Given the description of an element on the screen output the (x, y) to click on. 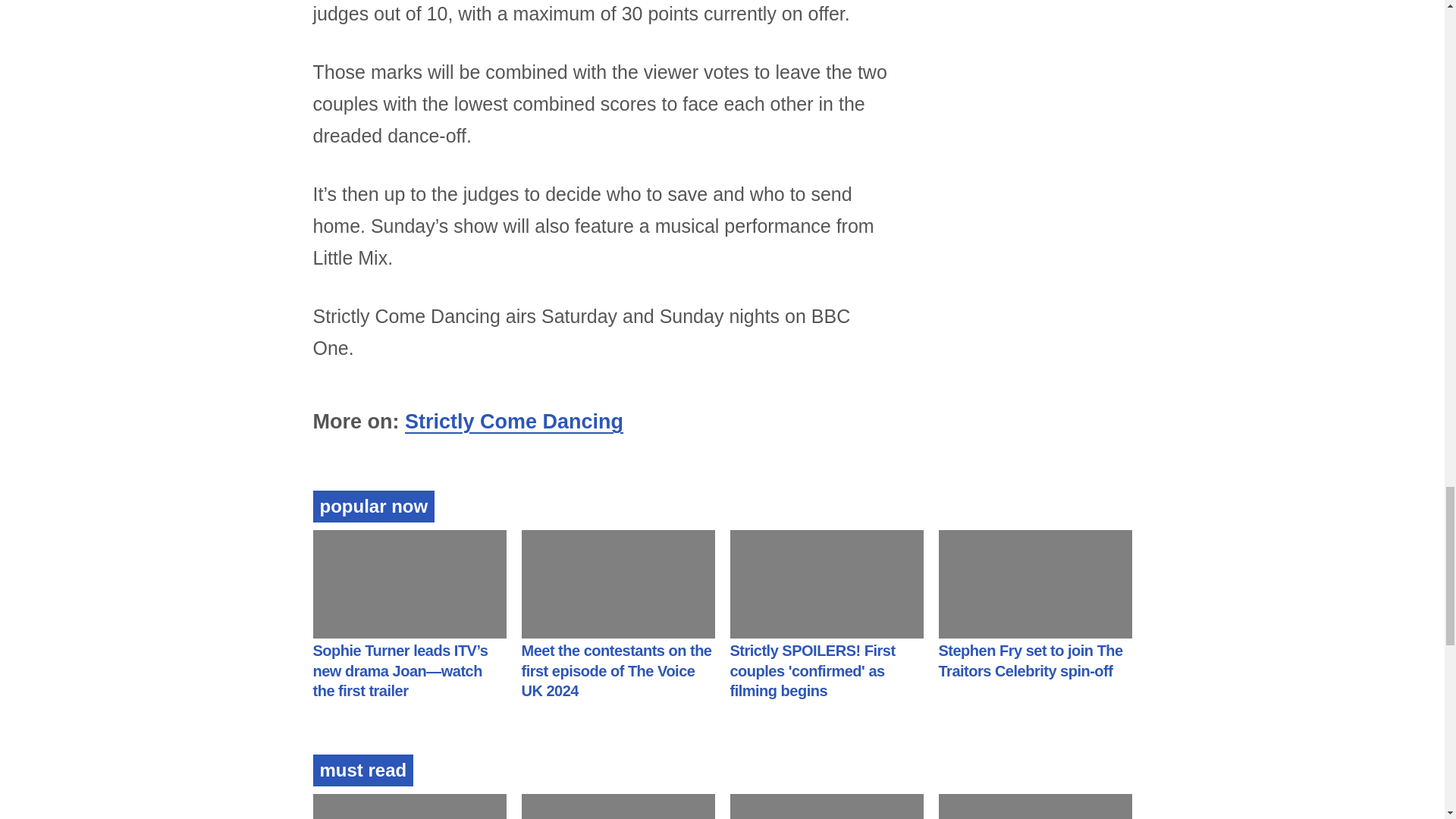
Strictly Come Dancing (513, 421)
Stephen Fry set to join The Traitors Celebrity spin-off (1030, 660)
